Given the description of an element on the screen output the (x, y) to click on. 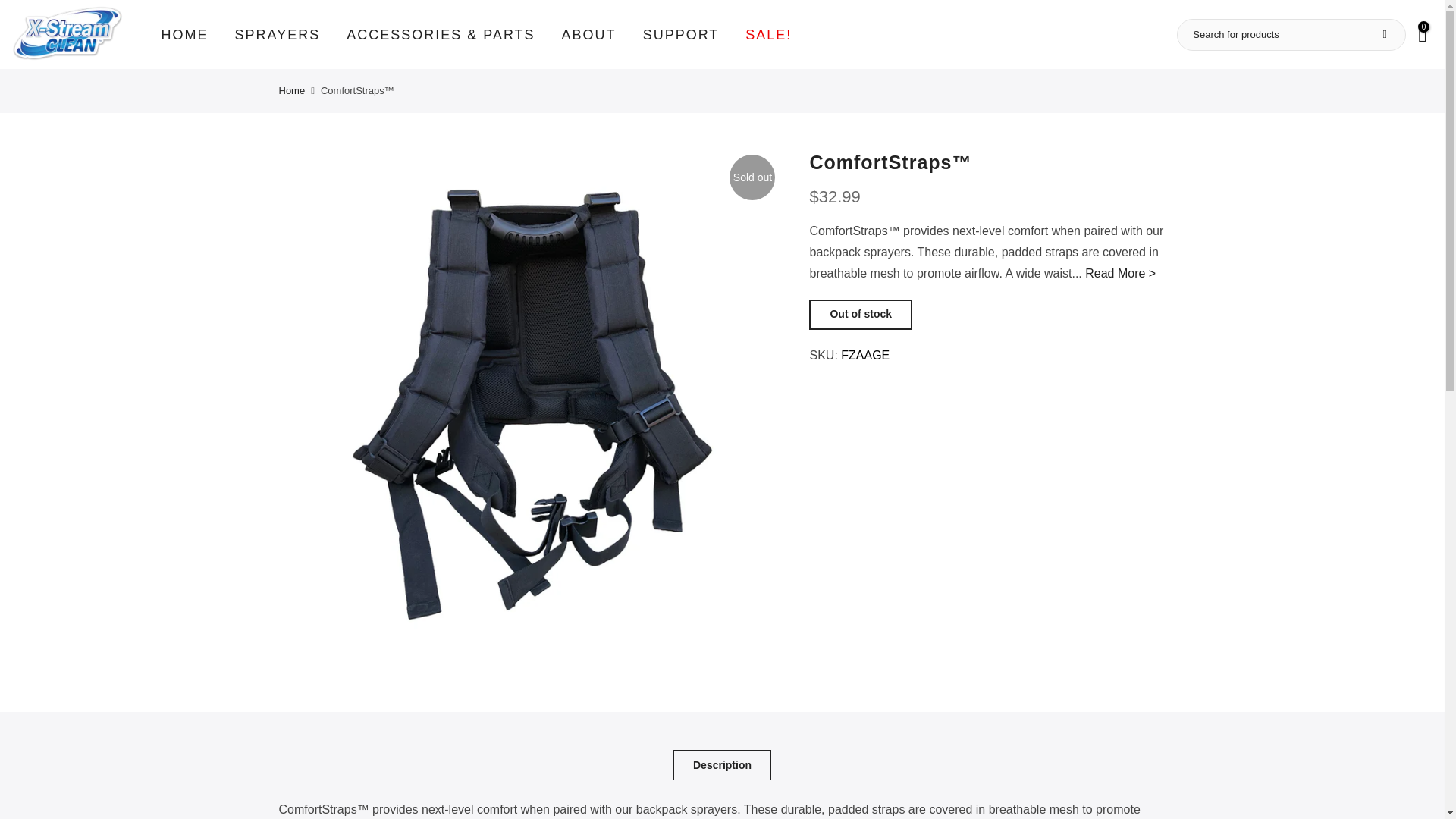
SUPPORT (680, 34)
SALE! (768, 34)
ABOUT (588, 34)
Home (292, 90)
HOME (184, 34)
Description (721, 765)
SPRAYERS (277, 34)
Out of stock (860, 314)
